Given the description of an element on the screen output the (x, y) to click on. 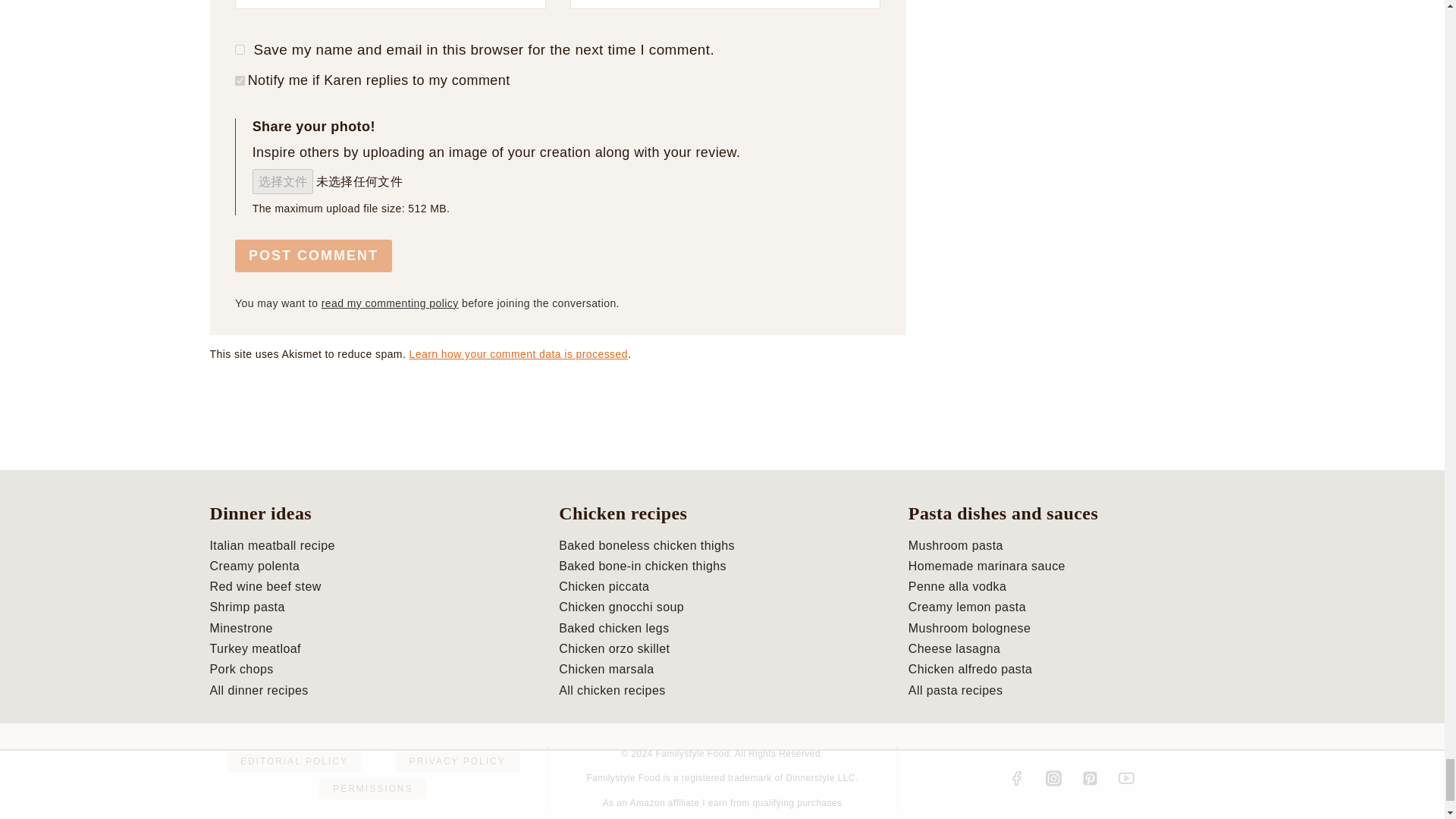
Post Comment (312, 255)
yes (239, 49)
on (239, 80)
